Given the description of an element on the screen output the (x, y) to click on. 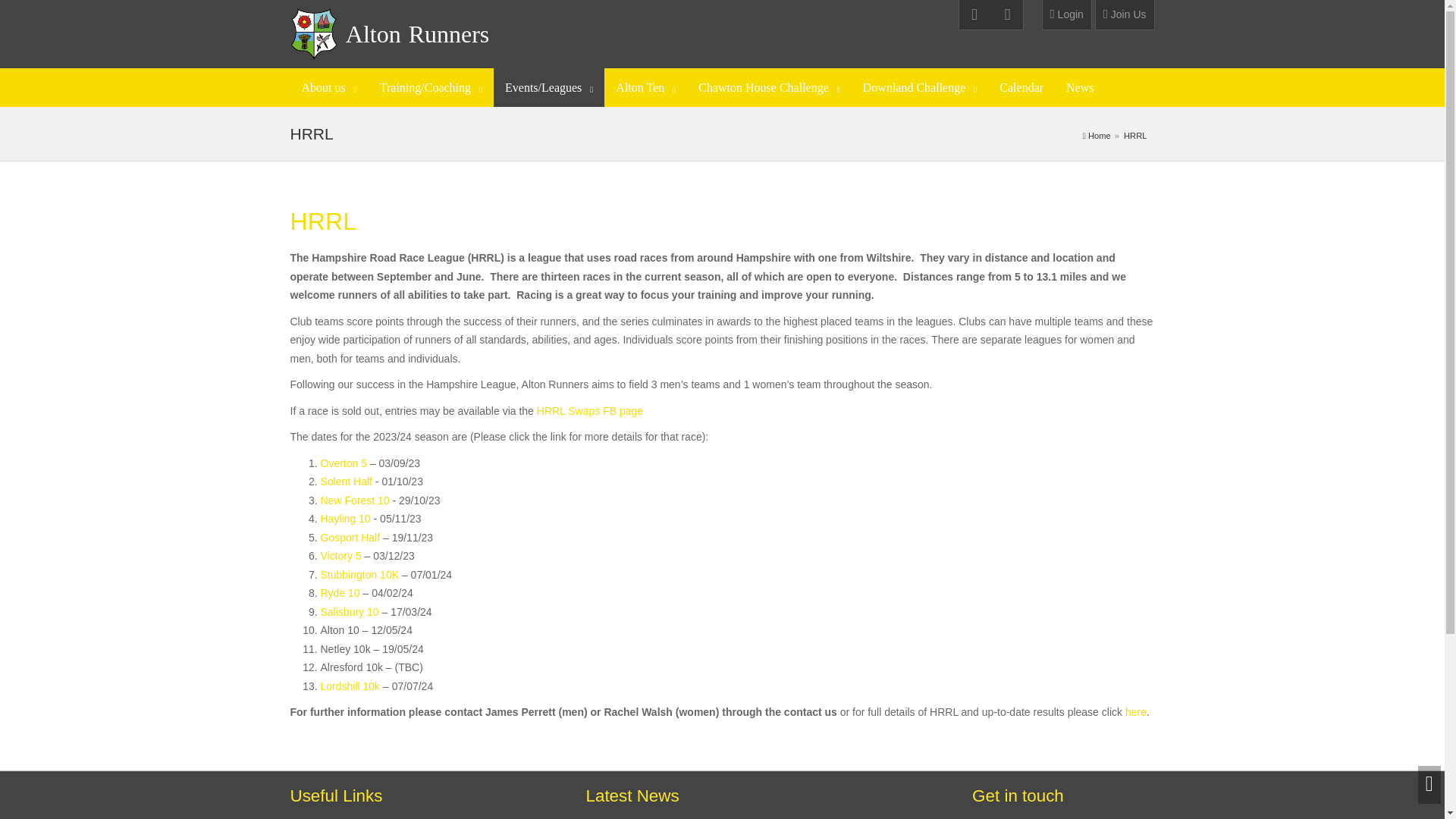
Alton Ten (645, 87)
About us (328, 87)
News (1079, 87)
Overton 5 (343, 463)
Join Us (1124, 15)
HRRL Swaps FB page (590, 410)
Alton Runners (417, 33)
Home (1098, 135)
Calendar (1021, 87)
Downland Challenge (919, 87)
